Given the description of an element on the screen output the (x, y) to click on. 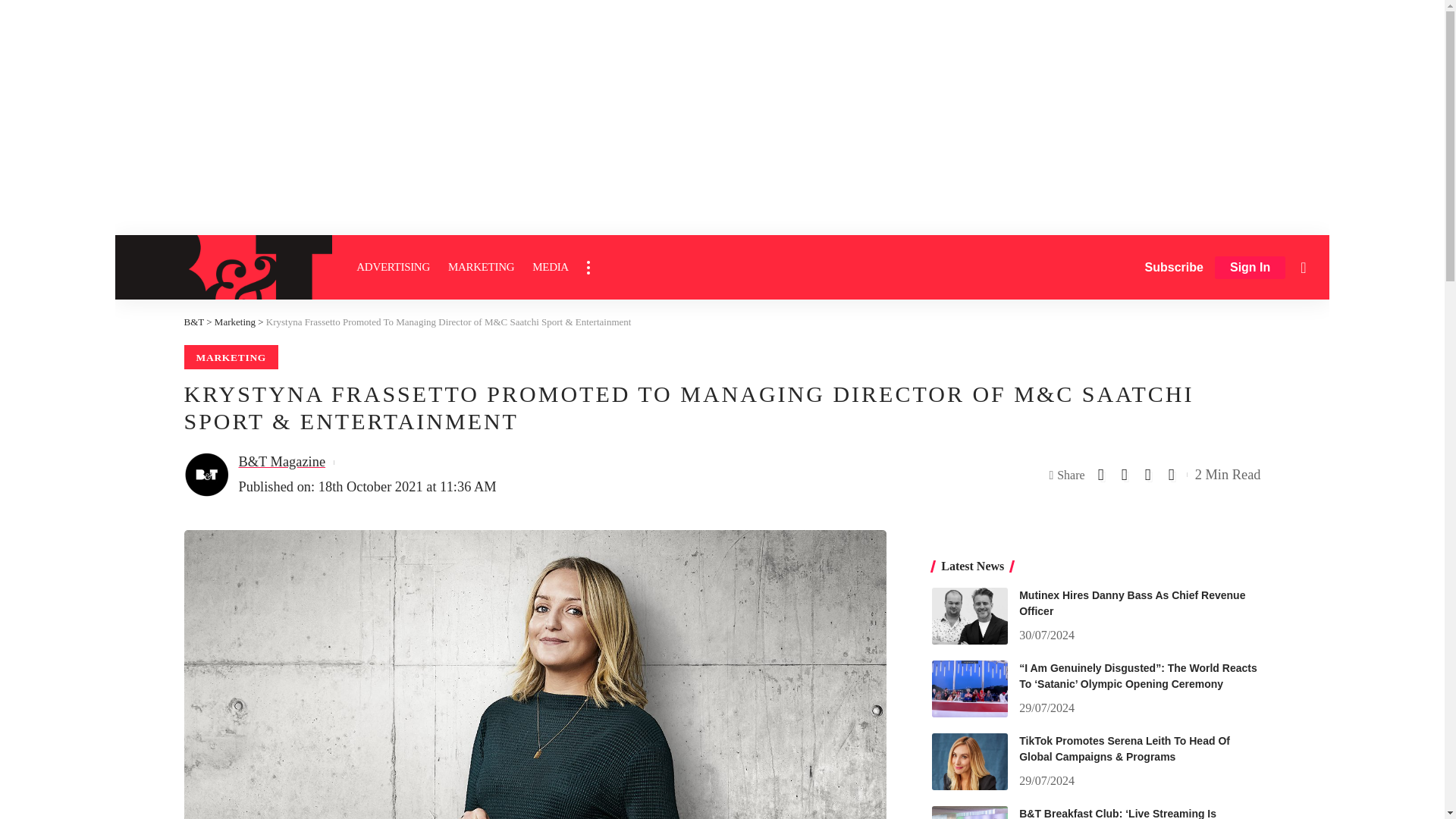
Mutinex Hires Danny Bass As Chief Revenue Officer (969, 616)
MARKETING (480, 267)
Sign In (1249, 267)
ADVERTISING (393, 267)
Go to the Marketing Category archives. (235, 321)
Subscribe (1174, 267)
